Given the description of an element on the screen output the (x, y) to click on. 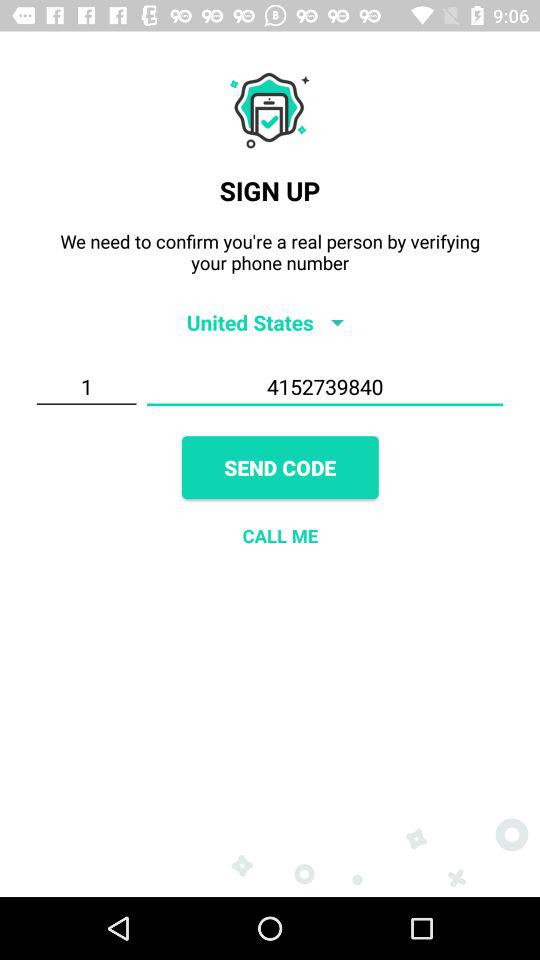
swipe until send code item (279, 467)
